Given the description of an element on the screen output the (x, y) to click on. 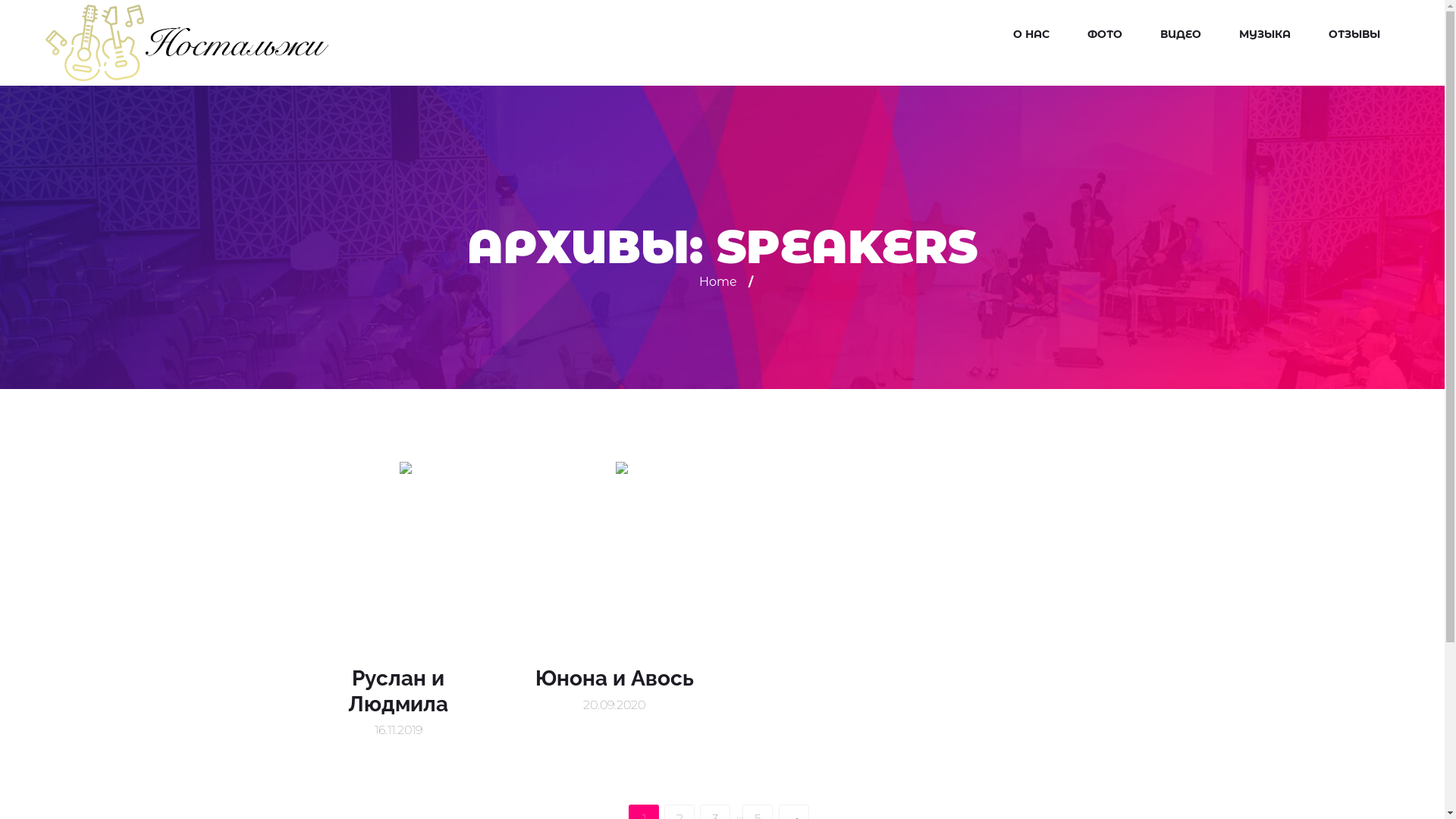
Home Element type: text (718, 281)
